Given the description of an element on the screen output the (x, y) to click on. 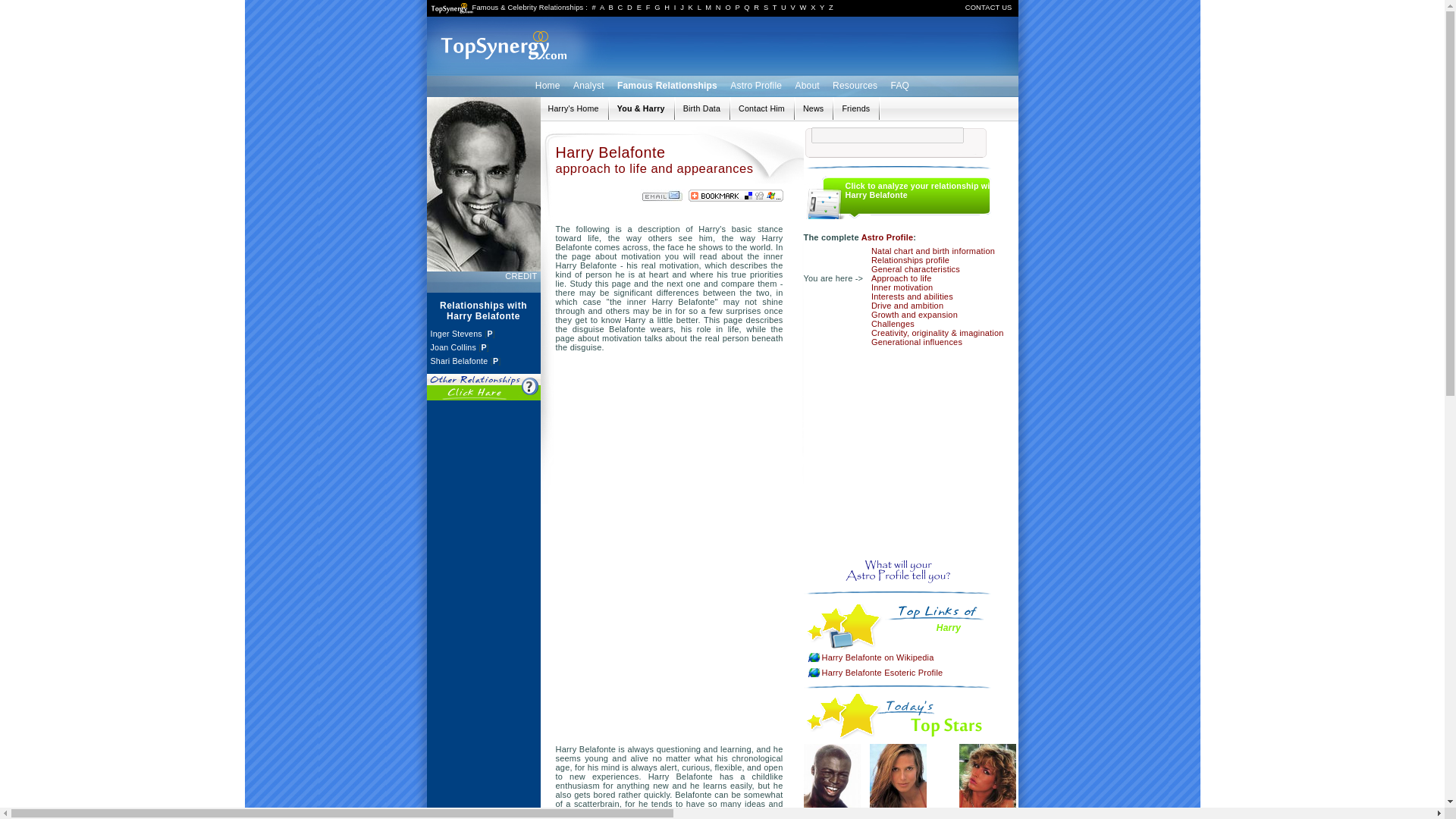
Advertisement (902, 452)
Resources (854, 85)
Relationships with Harry Belafonte (572, 108)
Inger Stevens (455, 333)
Contact Harry Belafonte (761, 108)
W (802, 7)
Harry's links and resources (855, 108)
Analyze your relationships with Harry Belafonte (641, 108)
About (806, 85)
FAQ (900, 85)
Astro Profile (756, 85)
CONTACT US (988, 7)
Astrological birth data for Harry Belafonte (701, 108)
Home (547, 85)
Harry's news (813, 108)
